Given the description of an element on the screen output the (x, y) to click on. 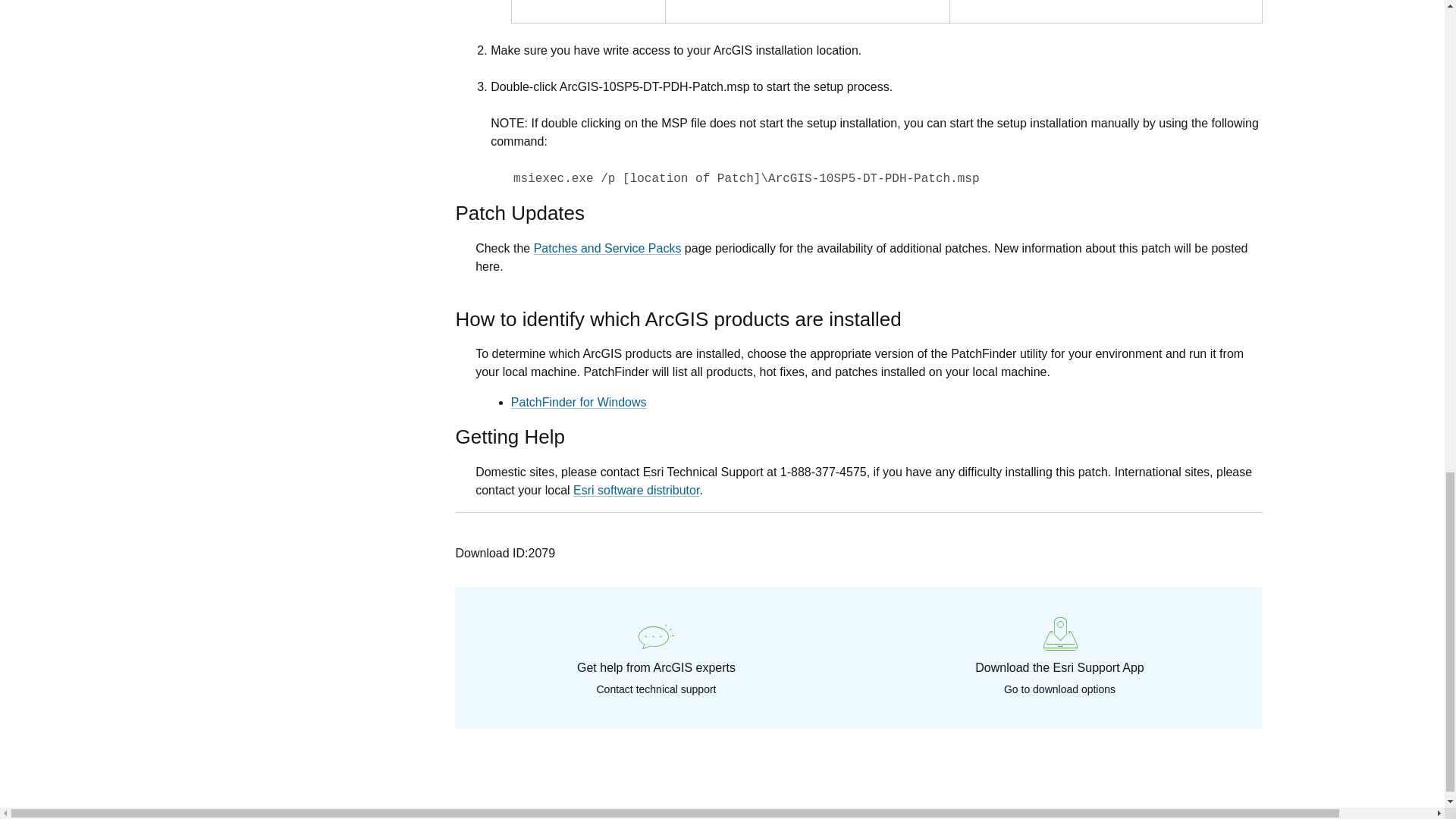
Patches and Service Packs (607, 247)
PatchFinder for Windows (578, 401)
Esri software distributor (635, 490)
